Given the description of an element on the screen output the (x, y) to click on. 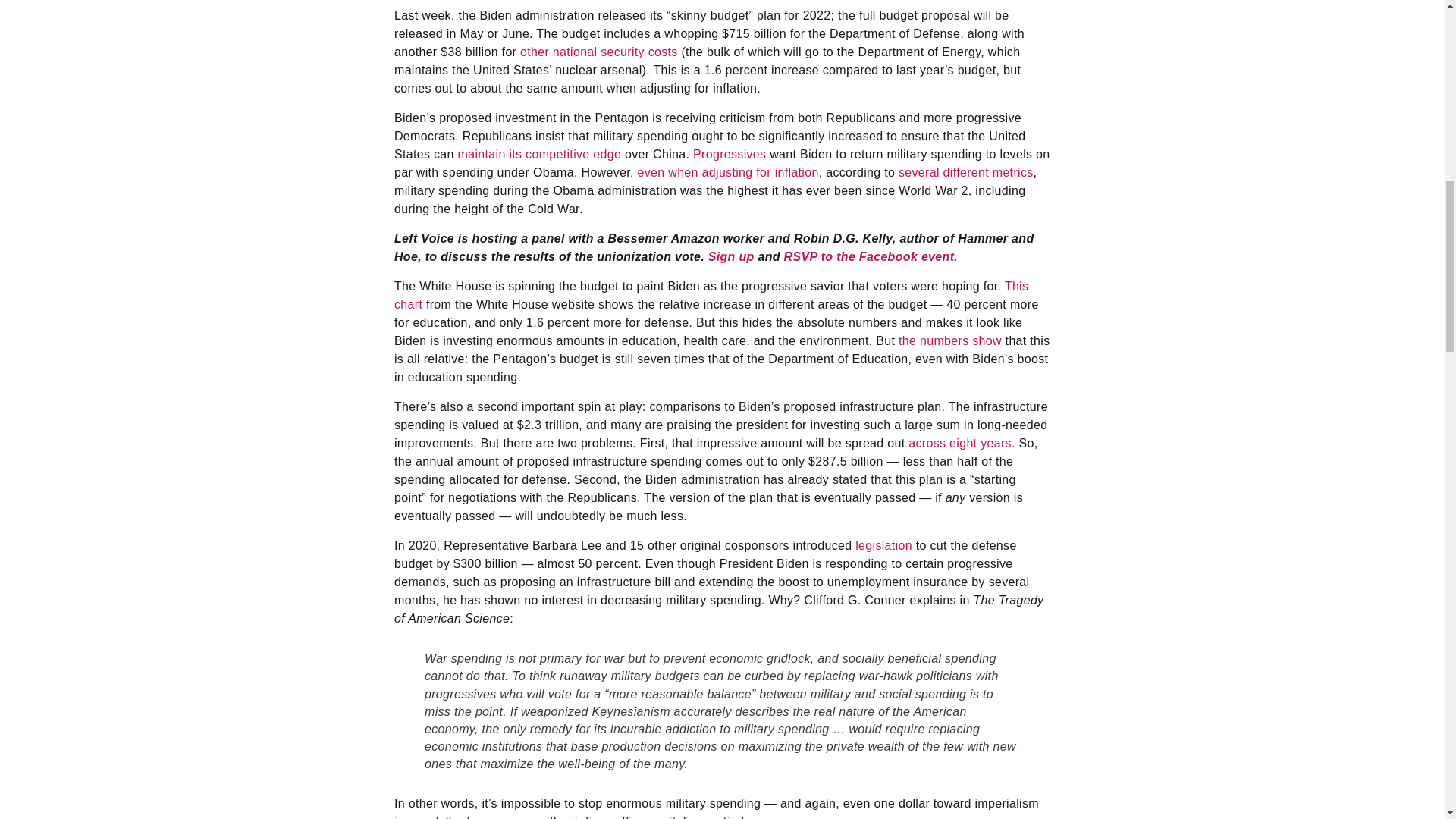
maintain its competitive edge (539, 154)
Progressives (729, 154)
even when adjusting for inflation (727, 172)
other national security costs (598, 51)
